Given the description of an element on the screen output the (x, y) to click on. 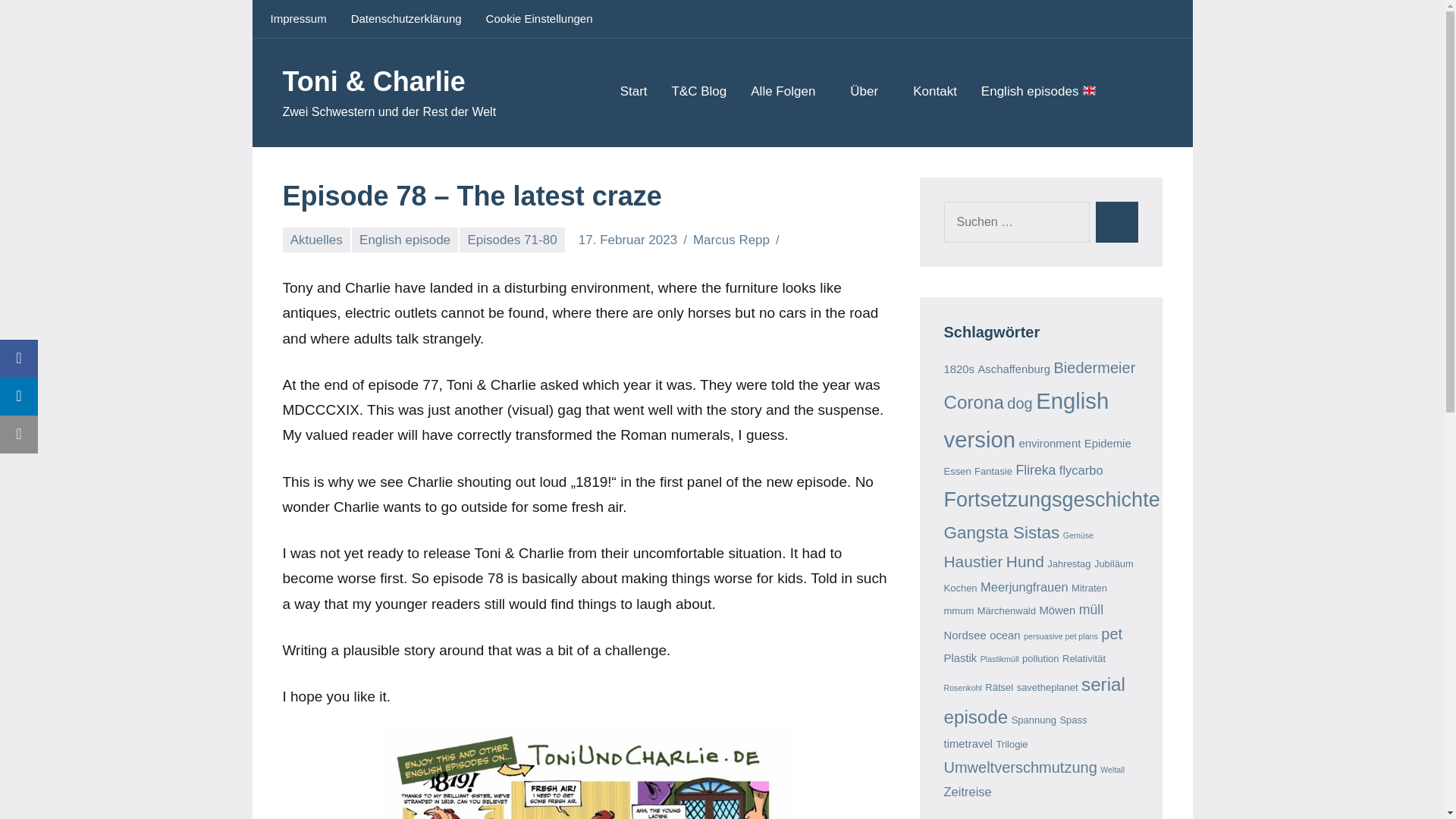
Impressum (297, 18)
Alle Folgen (788, 92)
Aktuelles (315, 239)
English episodes (1044, 92)
Episodes 71-80 (512, 239)
Kontakt (934, 92)
Cookie Einstellungen (539, 18)
Start (633, 92)
Suchen nach: (1016, 221)
English episode (405, 239)
